Given the description of an element on the screen output the (x, y) to click on. 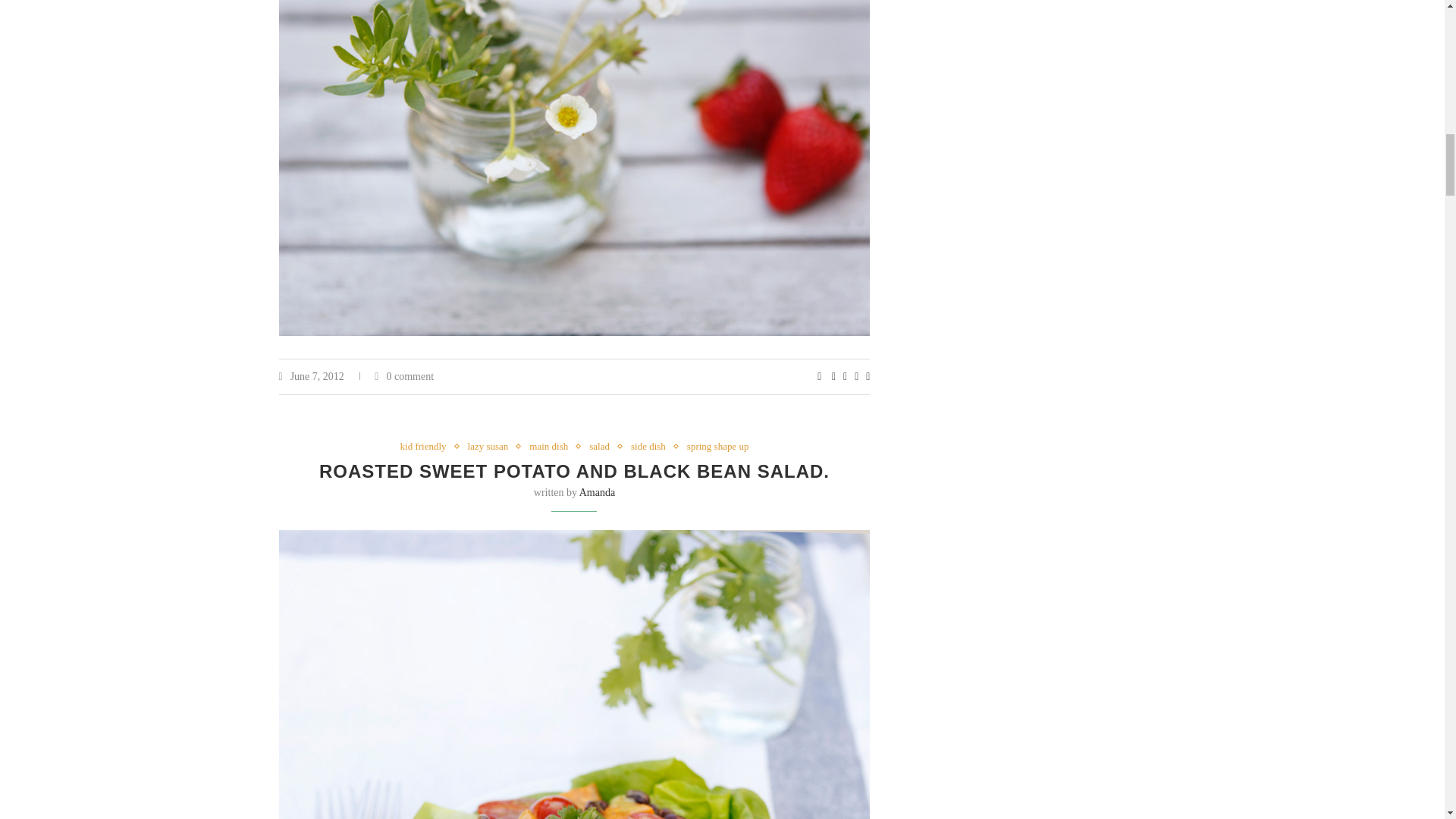
salad (603, 446)
0 comment (403, 376)
lazy susan (491, 446)
kid friendly (427, 446)
main dish (552, 446)
